Given the description of an element on the screen output the (x, y) to click on. 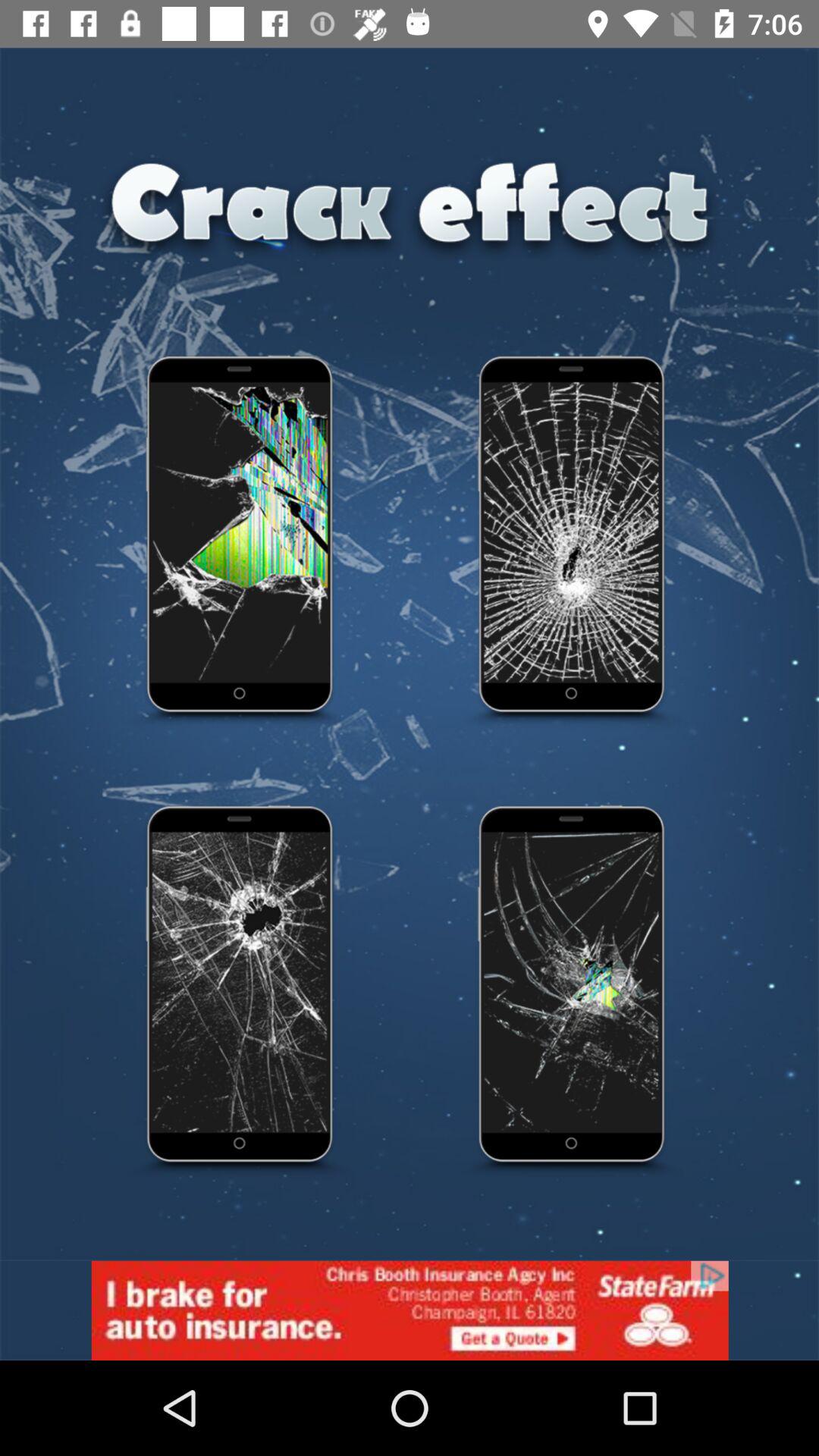
choose the fourth effect (572, 992)
